Given the description of an element on the screen output the (x, y) to click on. 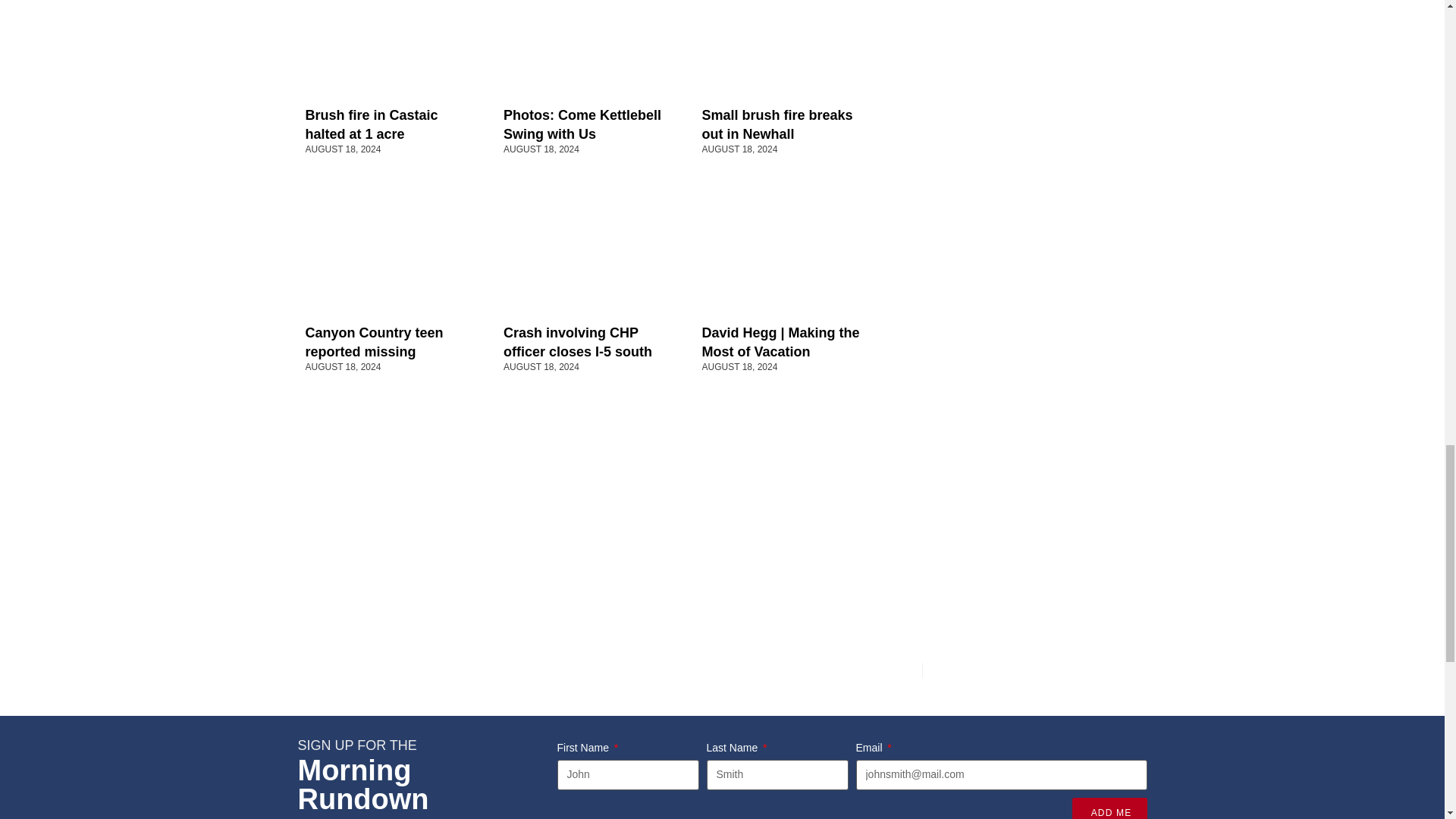
3rd party ad content (1031, 567)
3rd party ad content (1031, 24)
3rd party ad content (1031, 362)
3rd party ad content (1031, 158)
